Given the description of an element on the screen output the (x, y) to click on. 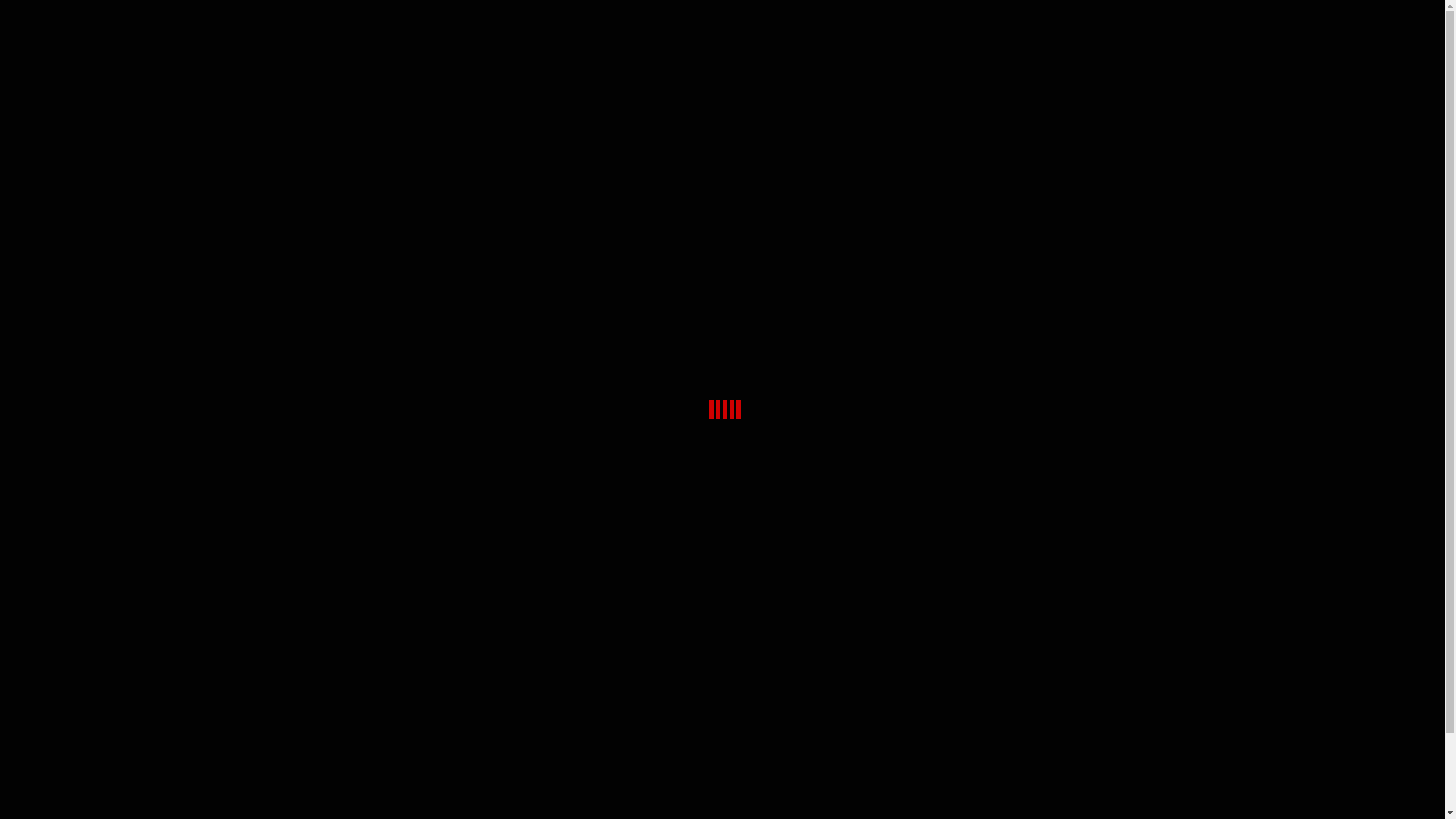
www.341musicgroup.com Element type: text (279, 652)
U Element type: text (1100, 405)
HOME Element type: text (1152, 29)
